Given the description of an element on the screen output the (x, y) to click on. 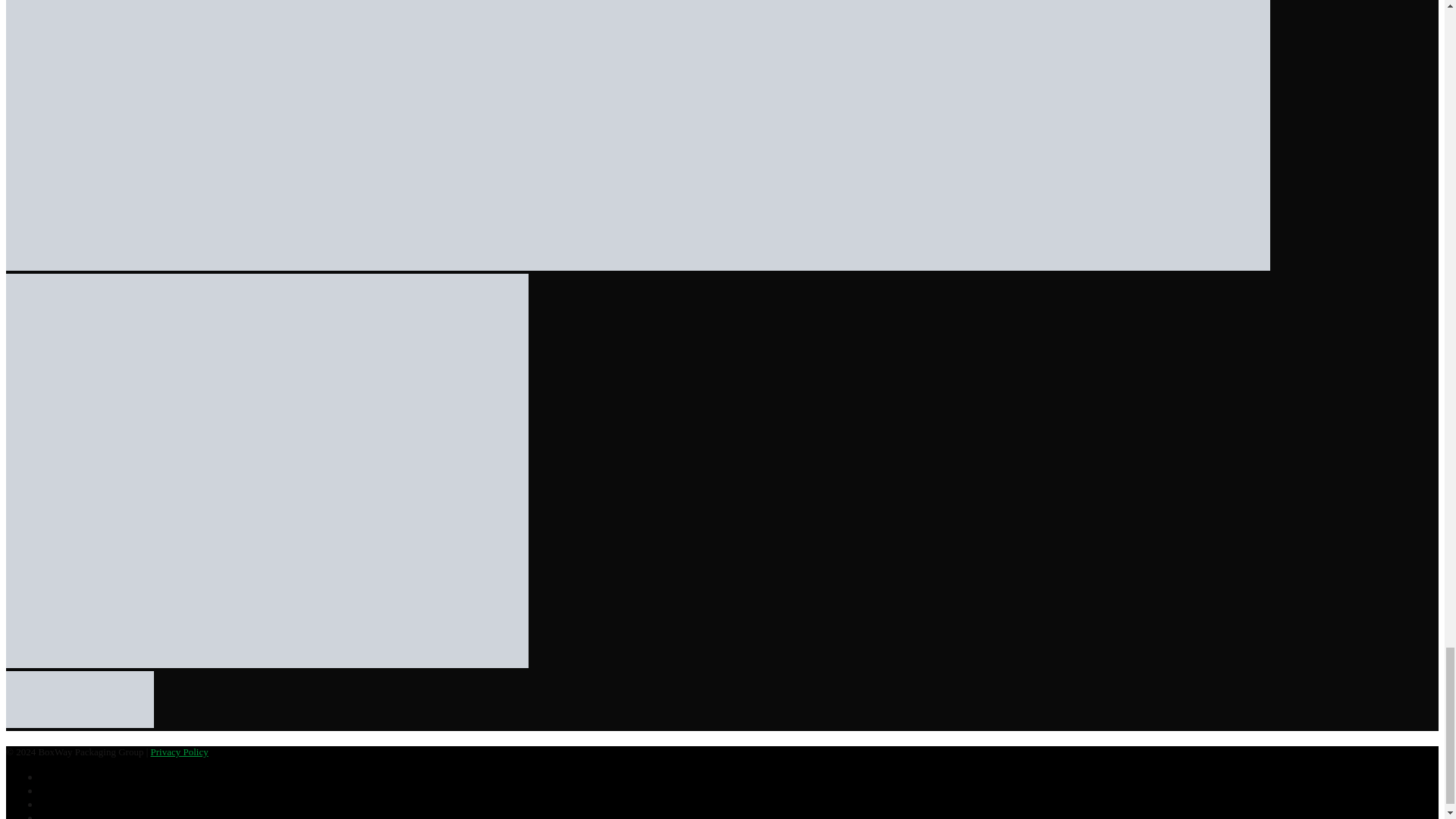
BoxWay Packaging Group (79, 699)
